Given the description of an element on the screen output the (x, y) to click on. 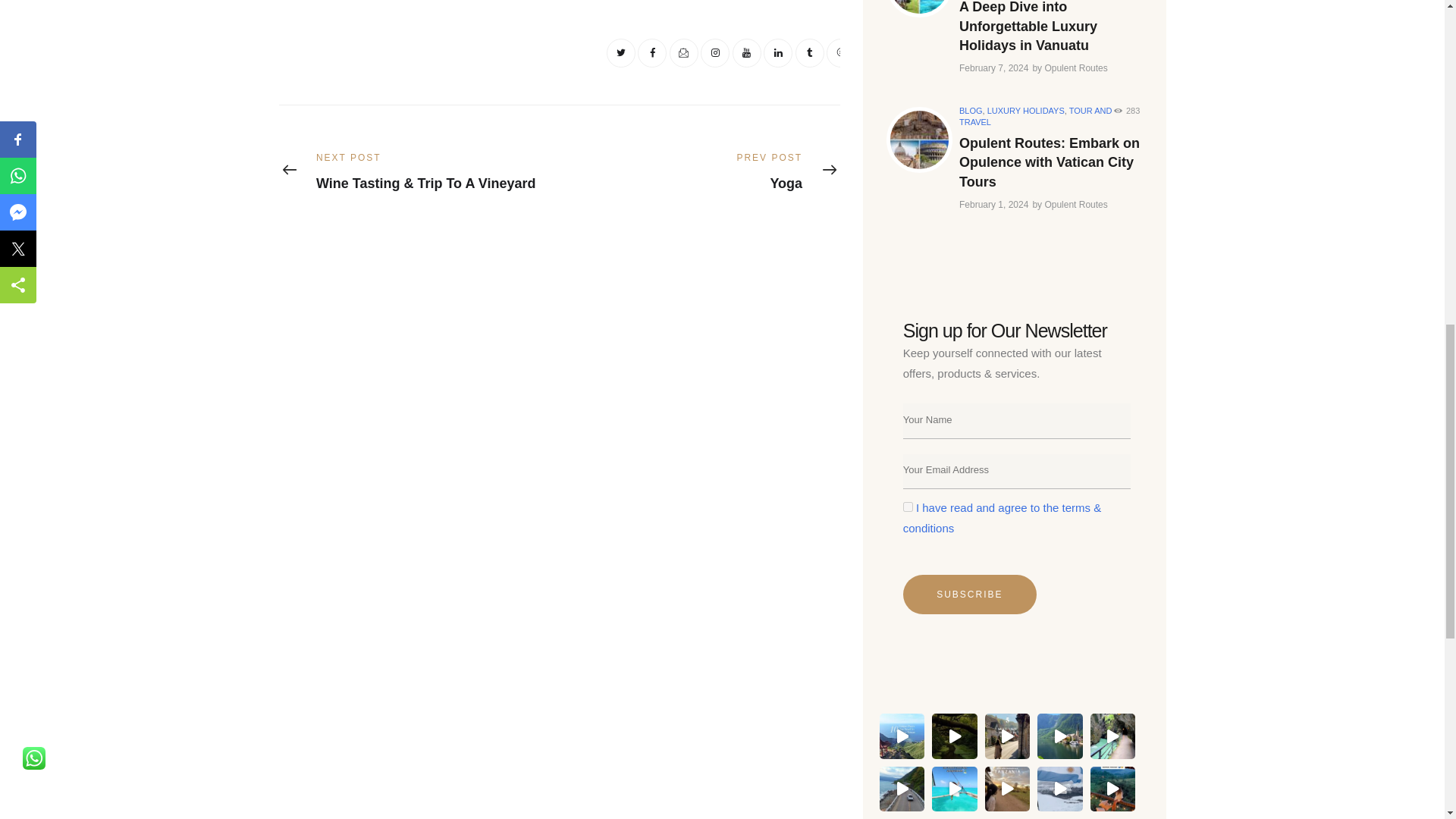
View all posts in Tour and Travel (1035, 116)
View all posts in Blog (970, 110)
Subscribe (969, 594)
1 (907, 506)
View all posts in luxury holidays (1025, 110)
